Given the description of an element on the screen output the (x, y) to click on. 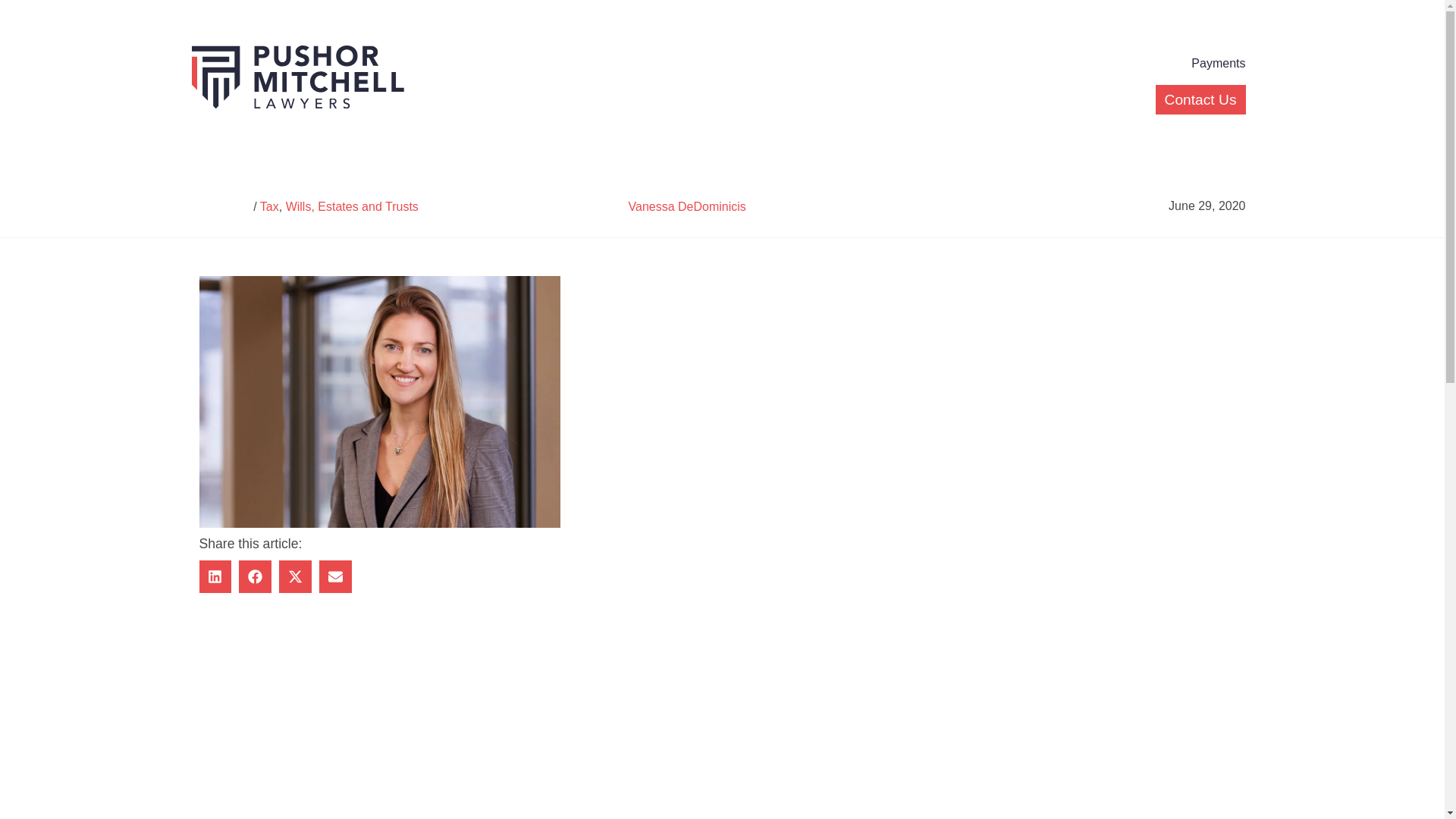
Vanessa DeDominicis (686, 205)
Contact Us (1201, 99)
Wills, Estates and Trusts (352, 205)
Tax (269, 205)
Posts by Vanessa DeDominicis (686, 205)
Payments (1217, 63)
